Given the description of an element on the screen output the (x, y) to click on. 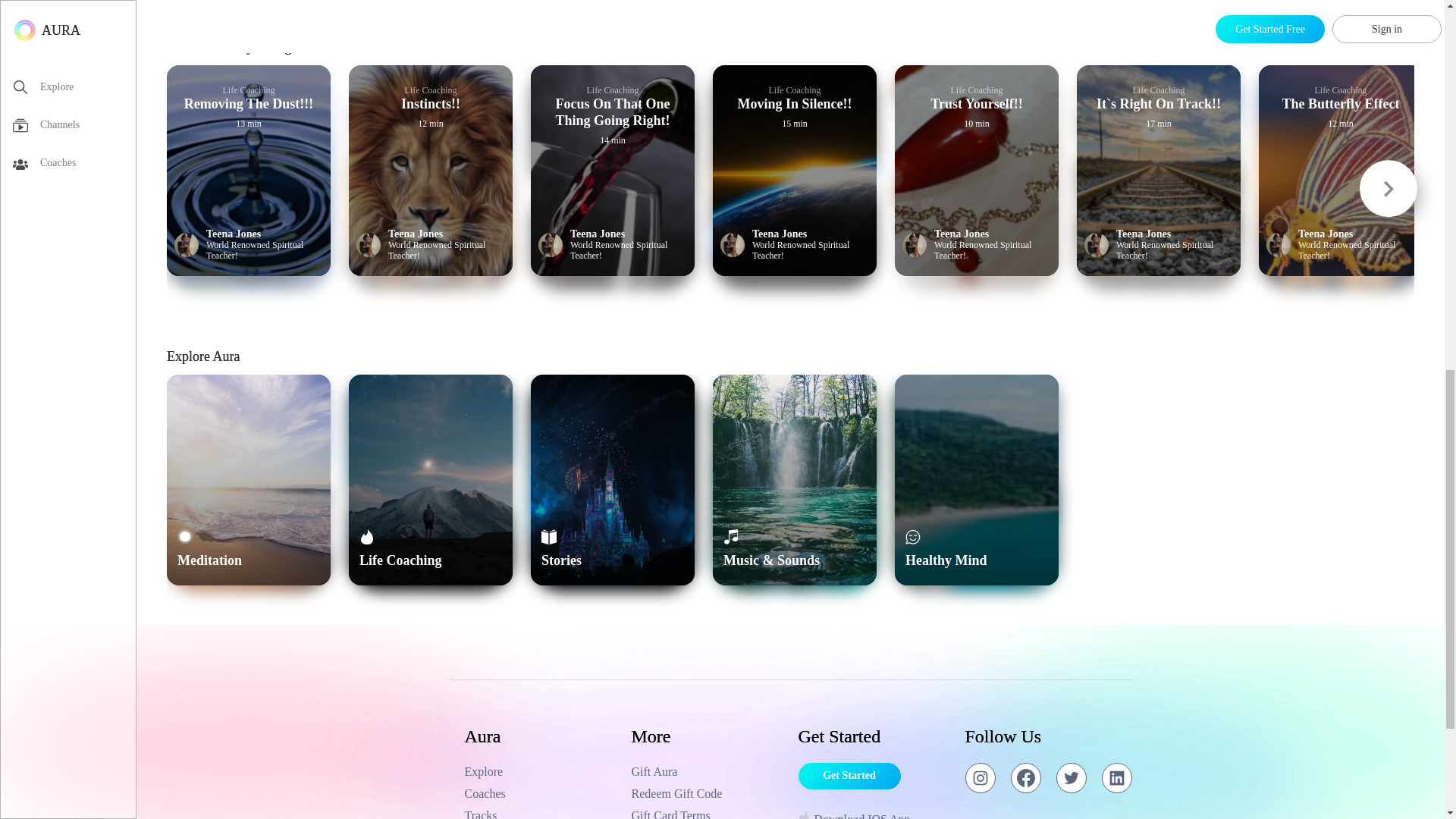
Gift Card Terms (706, 812)
Redeem Gift Code (706, 793)
Explore (539, 771)
View All (1392, 51)
Coaches (539, 793)
Tracks (539, 812)
Gift Aura (706, 771)
